Given the description of an element on the screen output the (x, y) to click on. 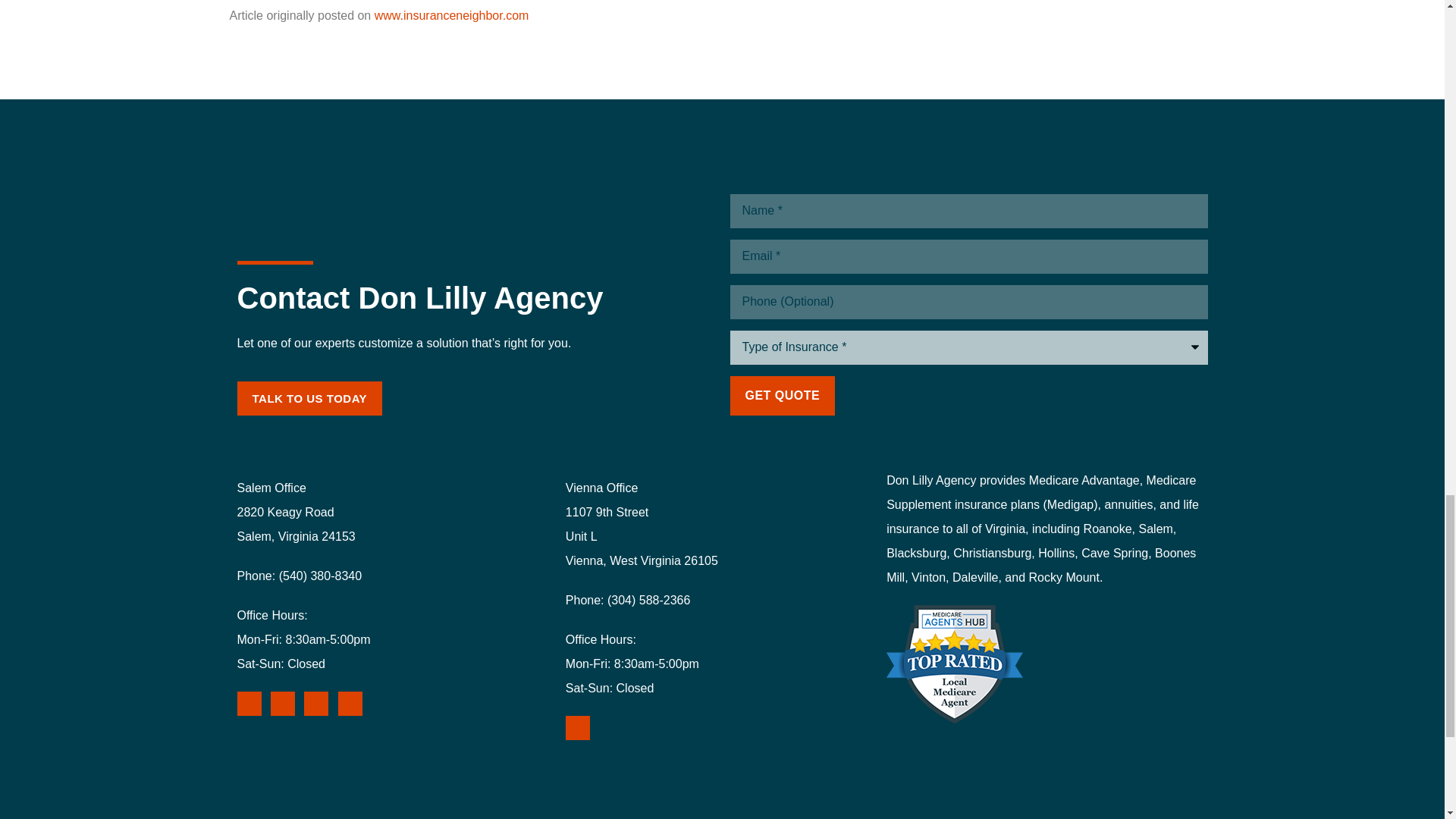
Top Rated Agent on Medicare Agents Hub - Don Lilly III (954, 664)
Get Quote (781, 395)
